Given the description of an element on the screen output the (x, y) to click on. 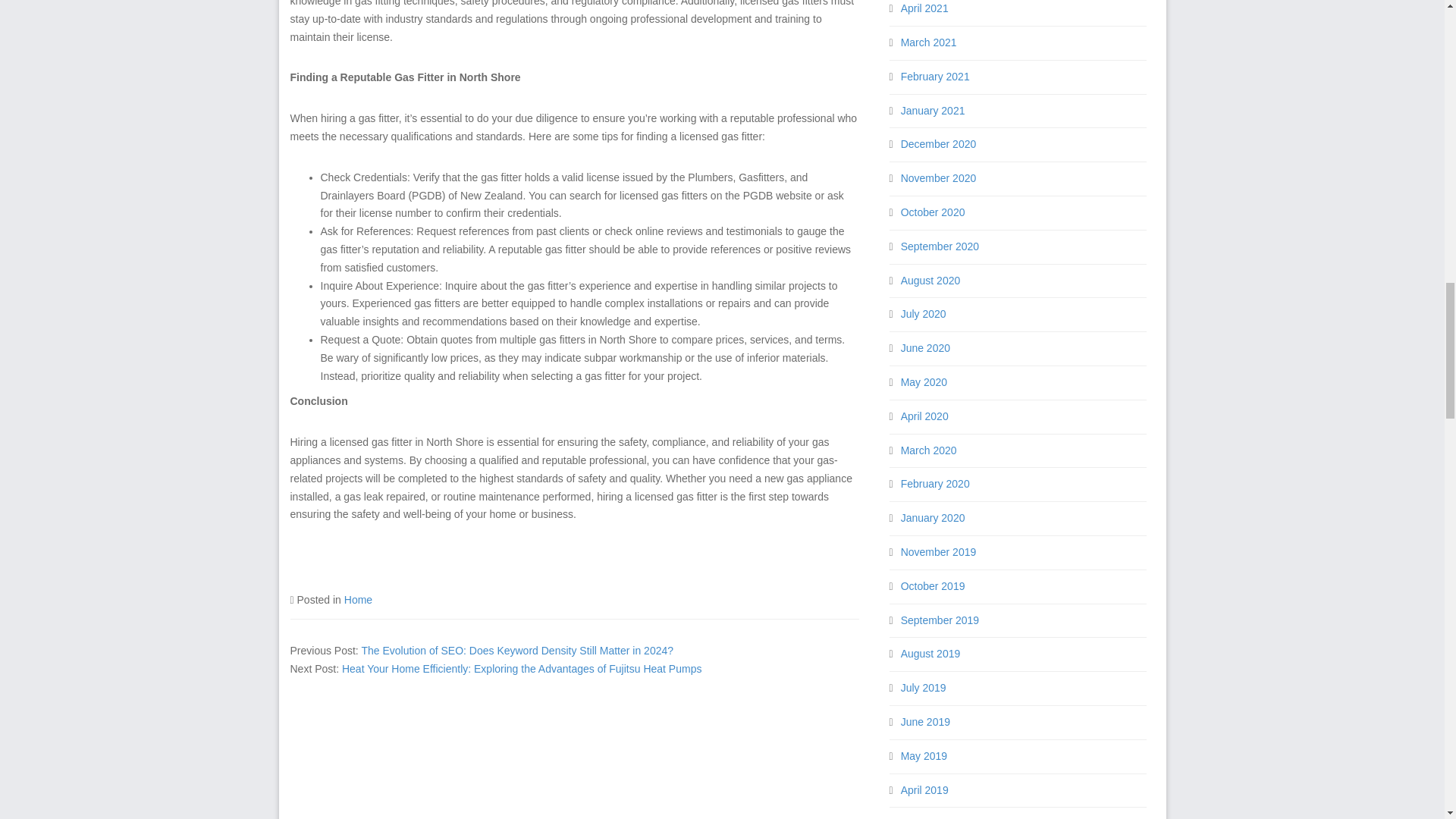
Home (357, 599)
